Given the description of an element on the screen output the (x, y) to click on. 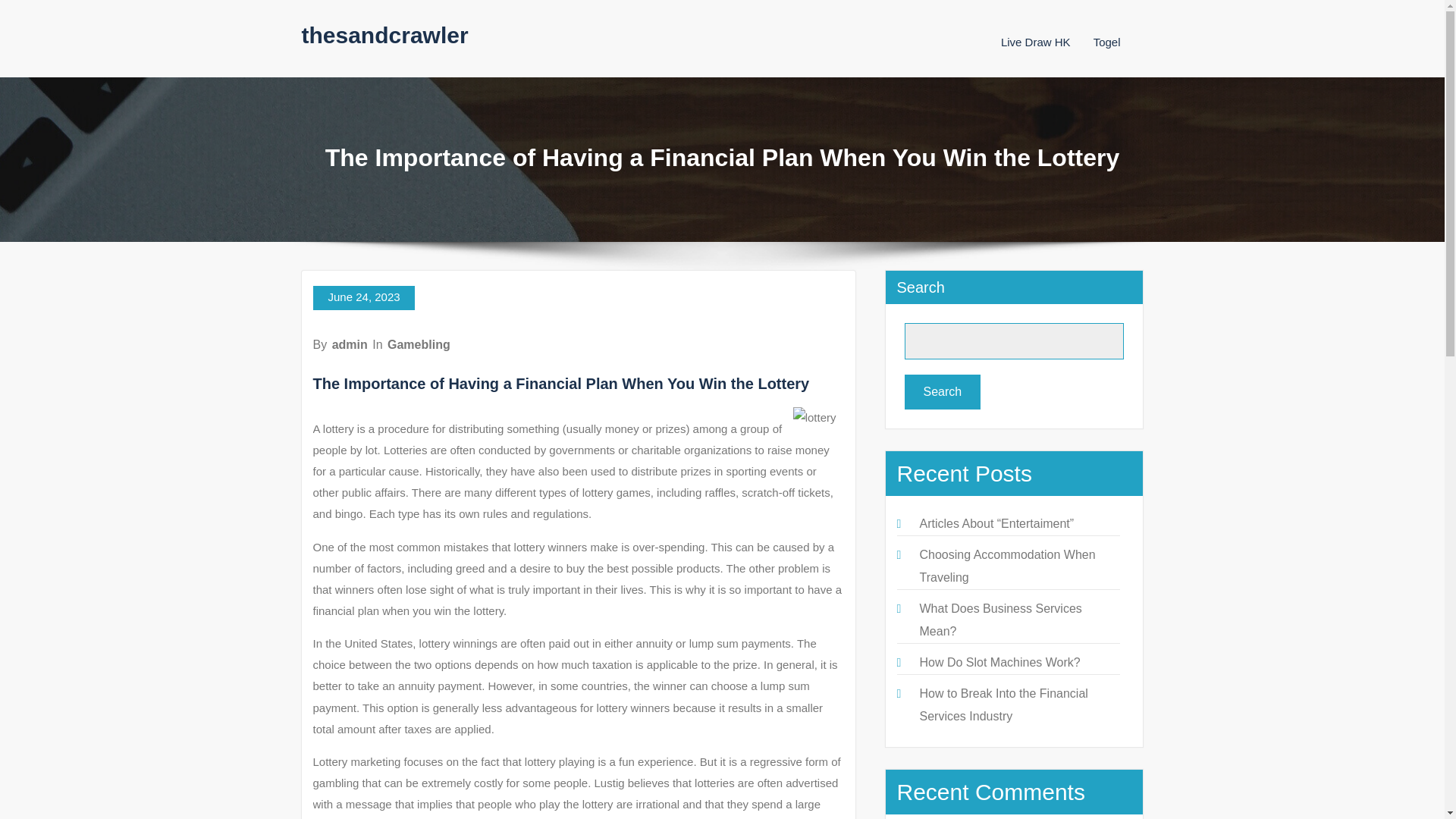
Choosing Accommodation When Traveling (1006, 565)
Live Draw HK (1035, 41)
admin (349, 344)
June 24, 2023 (363, 297)
Gamebling (418, 344)
What Does Business Services Mean? (999, 619)
How Do Slot Machines Work? (999, 662)
Search (941, 391)
How to Break Into the Financial Services Industry (1002, 704)
thesandcrawler (384, 34)
